Given the description of an element on the screen output the (x, y) to click on. 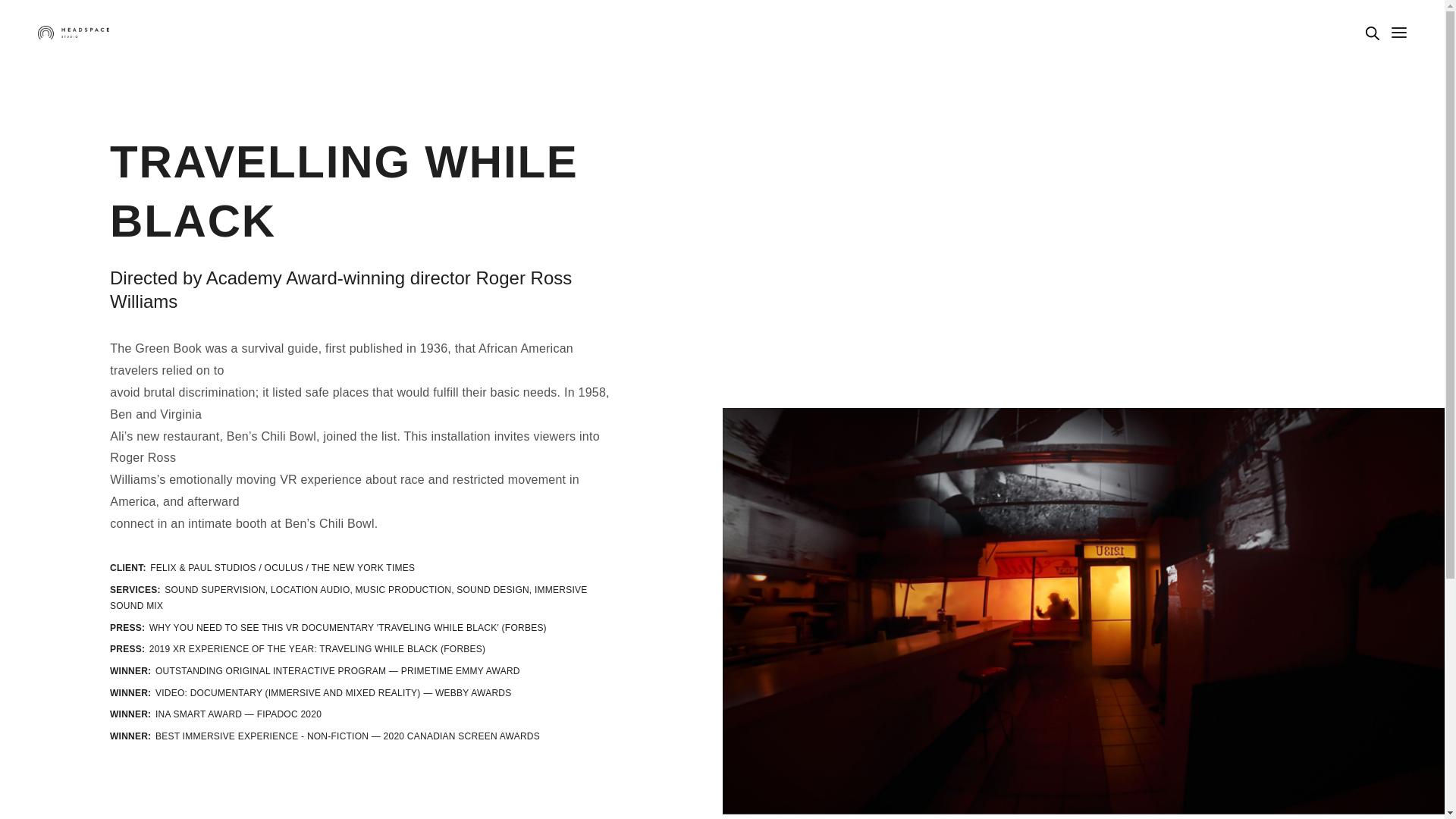
Facebook (1162, 648)
Search (1371, 33)
Headspace Studio (73, 32)
Search (47, 16)
LinkedIn (1162, 668)
Twitter (1325, 648)
